Given the description of an element on the screen output the (x, y) to click on. 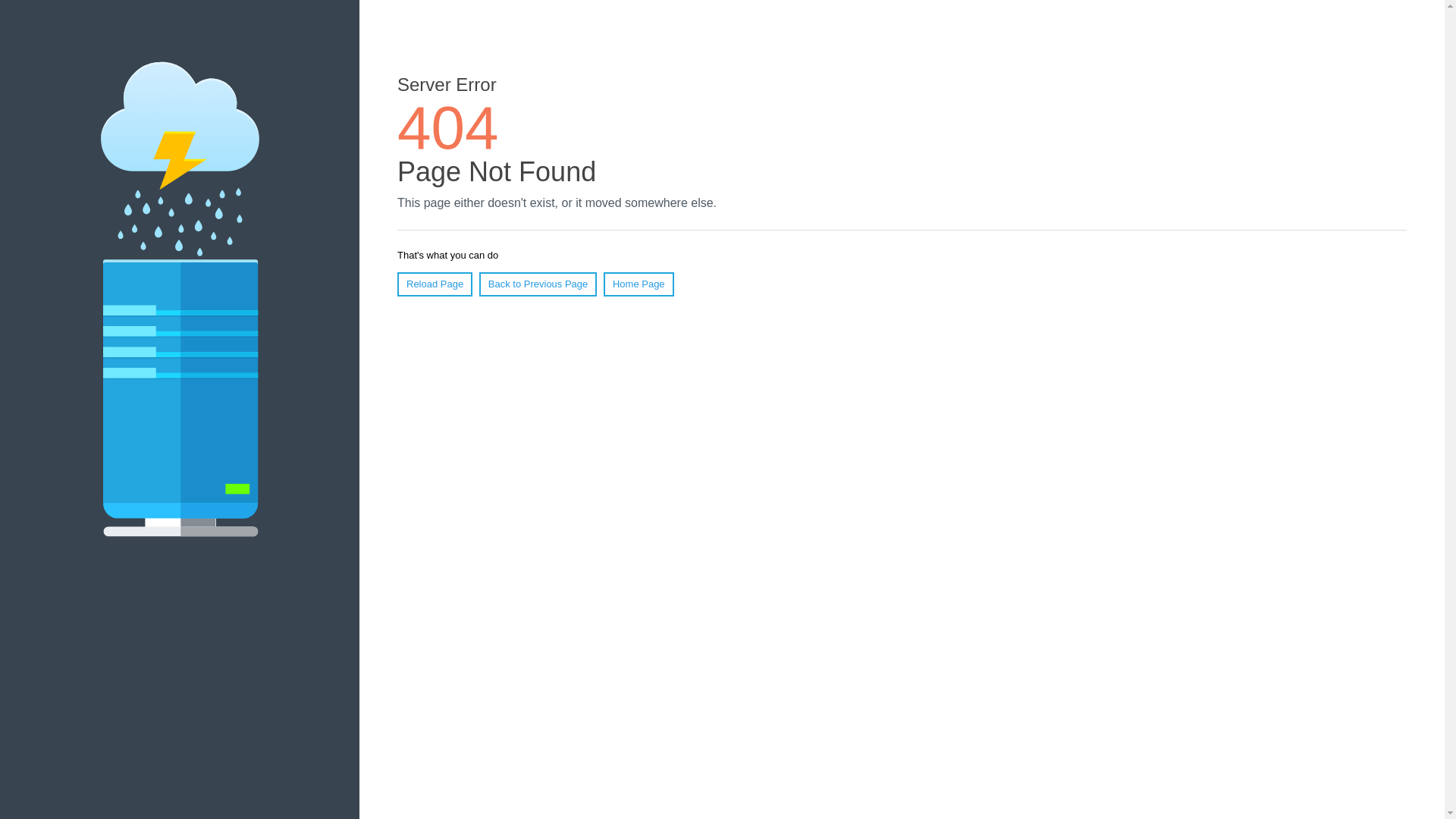
Home Page Element type: text (638, 284)
Back to Previous Page Element type: text (538, 284)
Reload Page Element type: text (434, 284)
